Given the description of an element on the screen output the (x, y) to click on. 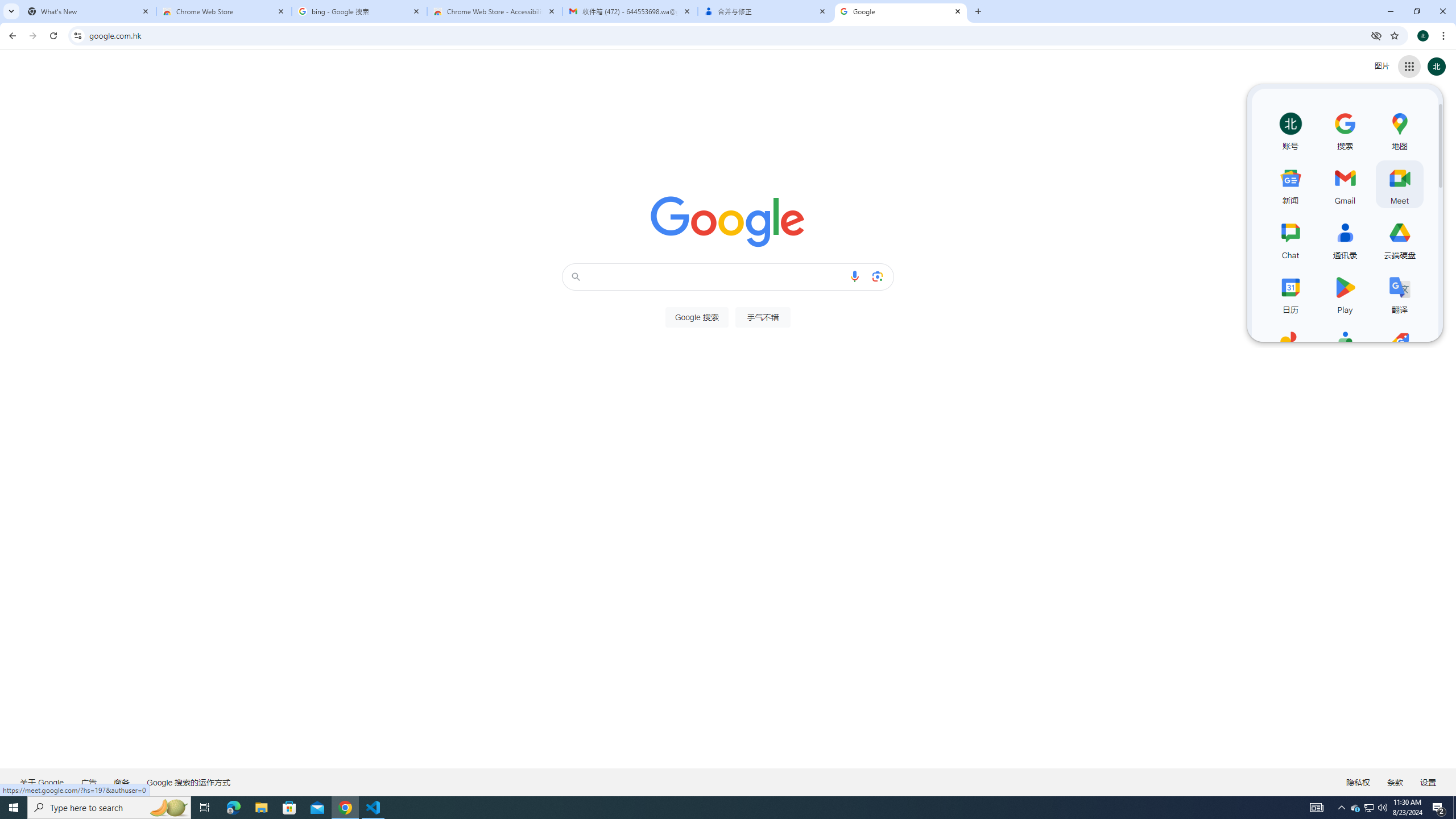
What's New (88, 11)
Chrome Web Store (224, 11)
